Given the description of an element on the screen output the (x, y) to click on. 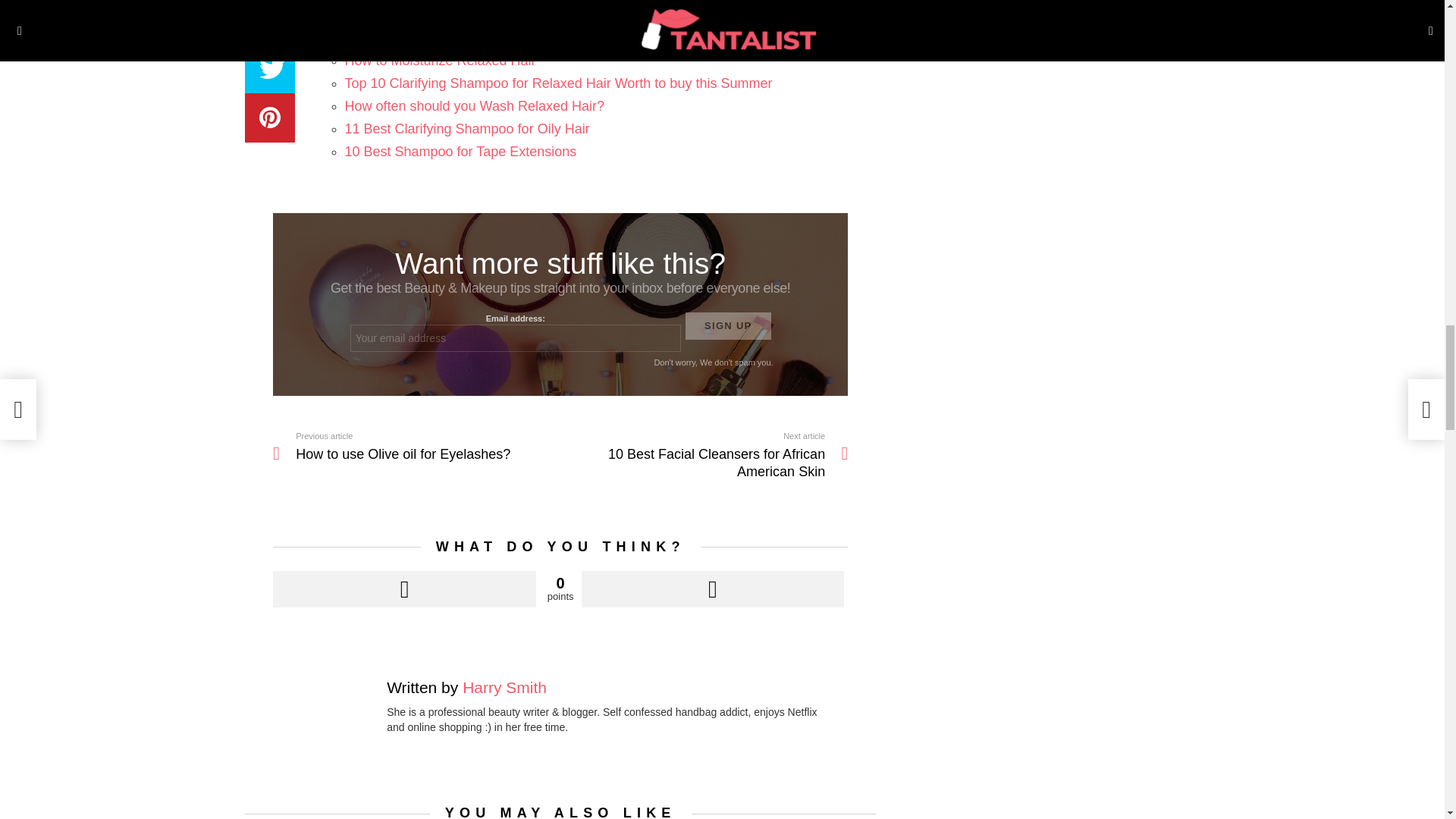
Downvote (712, 588)
11 Best Clarifying Shampoo for Oily Hair (466, 128)
Upvote (404, 588)
Sign up (728, 325)
Harry Smith (505, 687)
10 Best Shampoo for Tape Extensions (459, 151)
Downvote (712, 588)
How to Moisturize Relaxed Hair (439, 60)
